Given the description of an element on the screen output the (x, y) to click on. 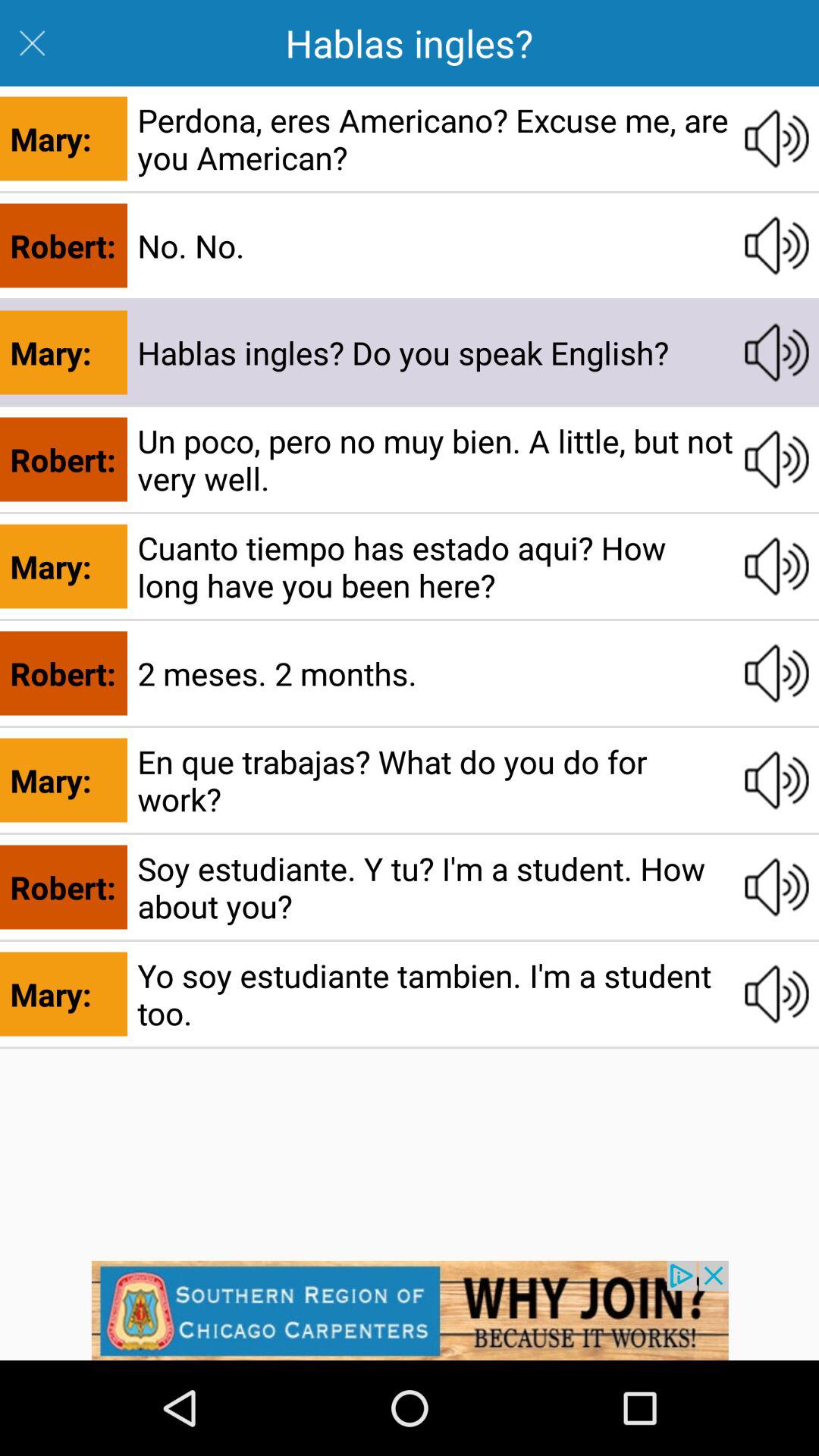
play the audio (776, 352)
